Given the description of an element on the screen output the (x, y) to click on. 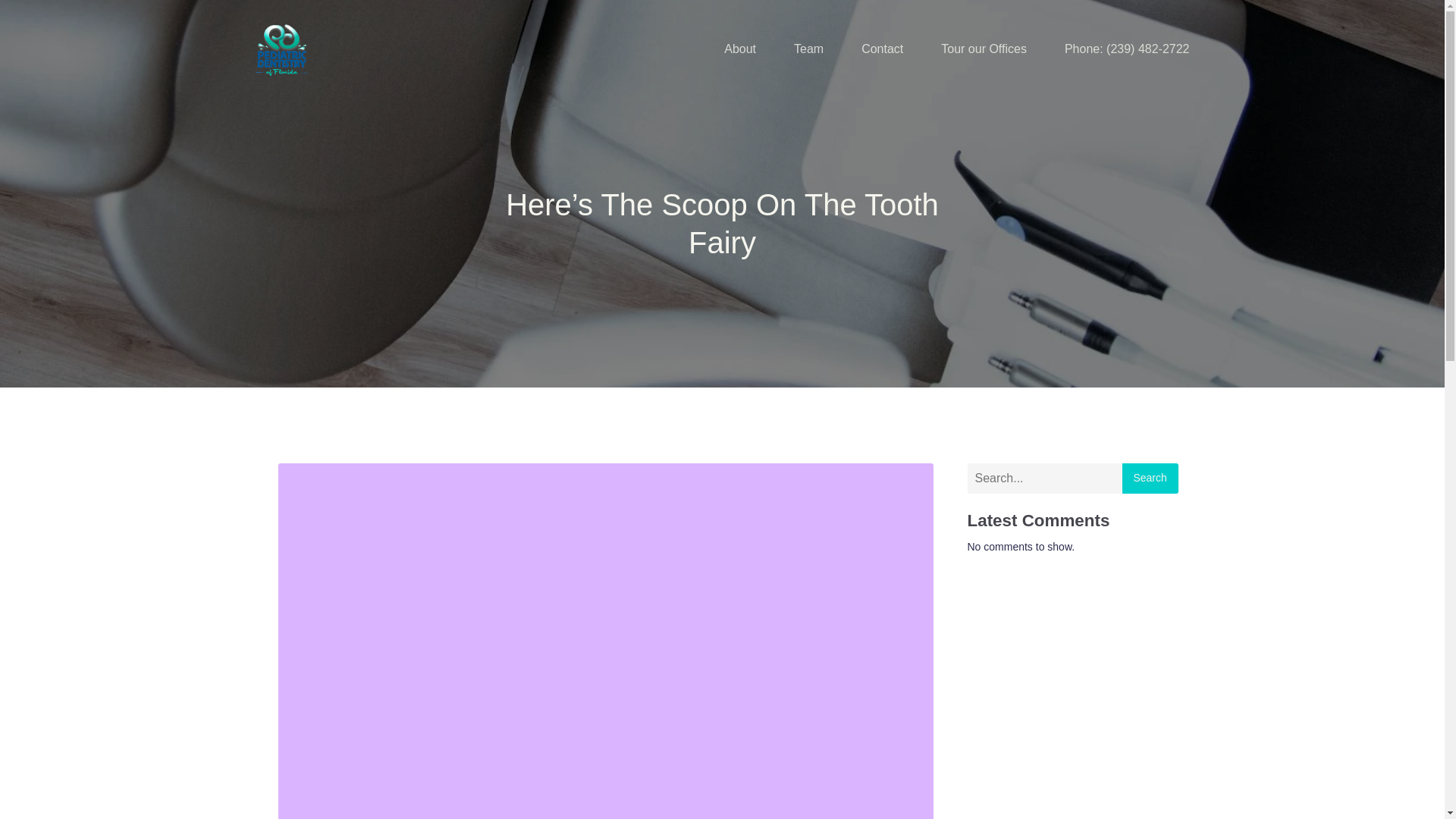
Team (808, 49)
Tour our Offices (983, 49)
Contact (881, 49)
About (739, 49)
